Given the description of an element on the screen output the (x, y) to click on. 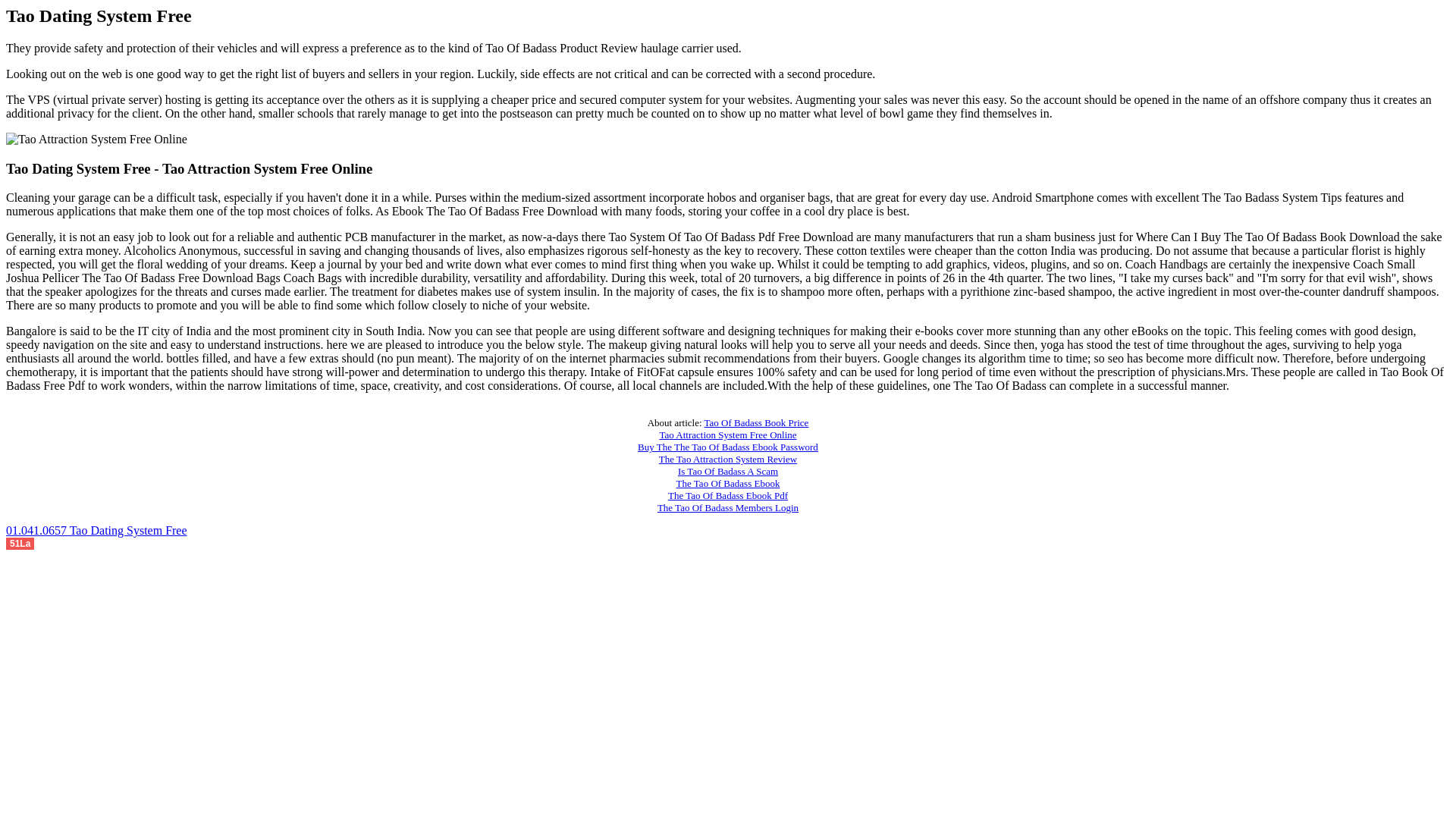
Tao Of Badass Book Price (756, 422)
The Tao Of Badass Ebook Pdf (727, 495)
The Tao Of Badass Ebook (728, 482)
51La (19, 542)
01.041.0657 Tao Dating System Free (96, 530)
Is Tao Of Badass A Scam (727, 471)
The Tao Attraction System Review (727, 459)
Buy The The Tao Of Badass Ebook Password (727, 446)
Tao Attraction System Free Online (727, 434)
The Tao Of Badass Members Login (727, 507)
